Given the description of an element on the screen output the (x, y) to click on. 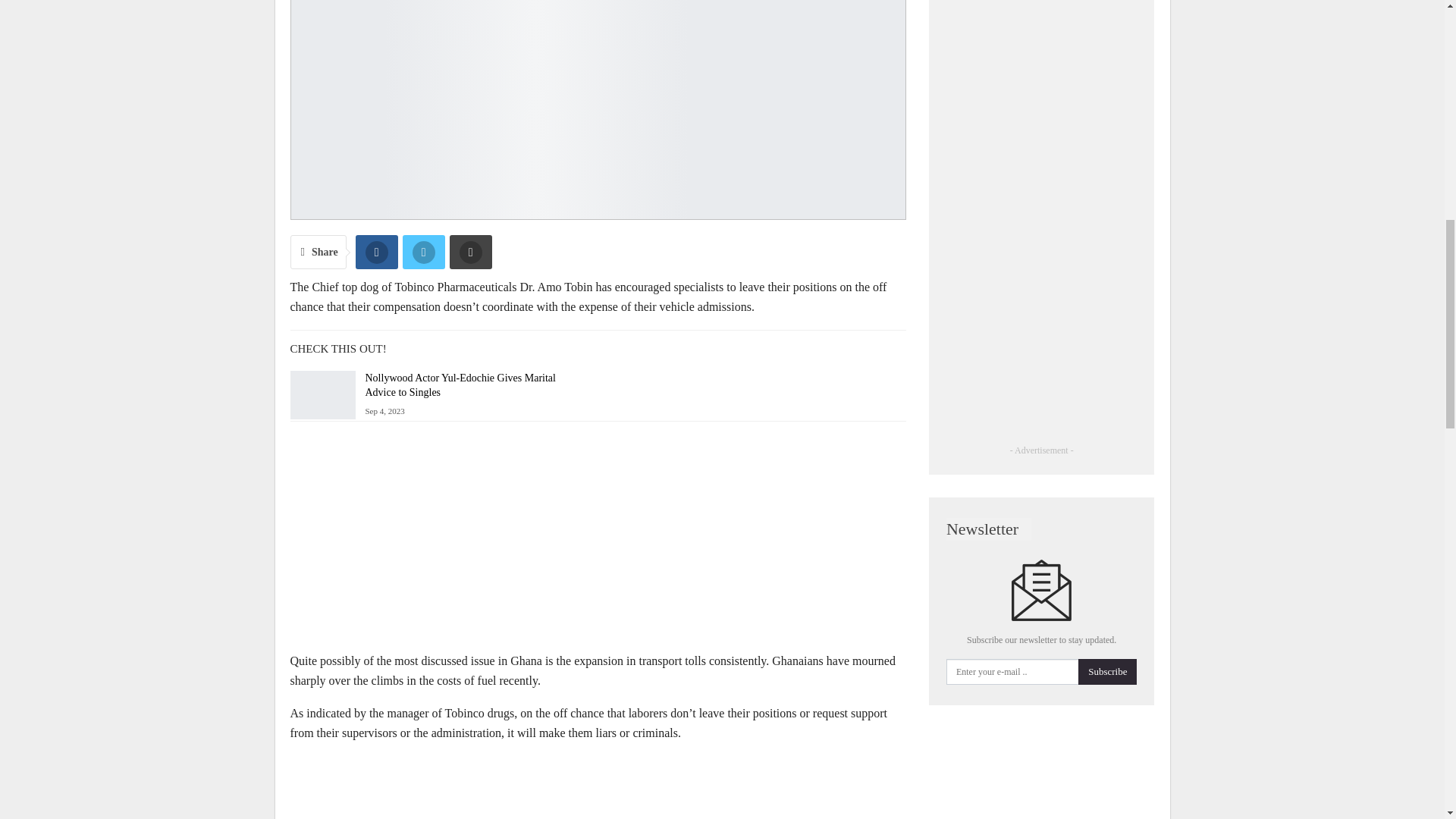
Advertisement (597, 539)
Nollywood Actor Yul-Edochie Gives Marital Advice to Singles (460, 385)
Advertisement (597, 787)
Nollywood Actor Yul-Edochie Gives Marital Advice to Singles (322, 395)
